Given the description of an element on the screen output the (x, y) to click on. 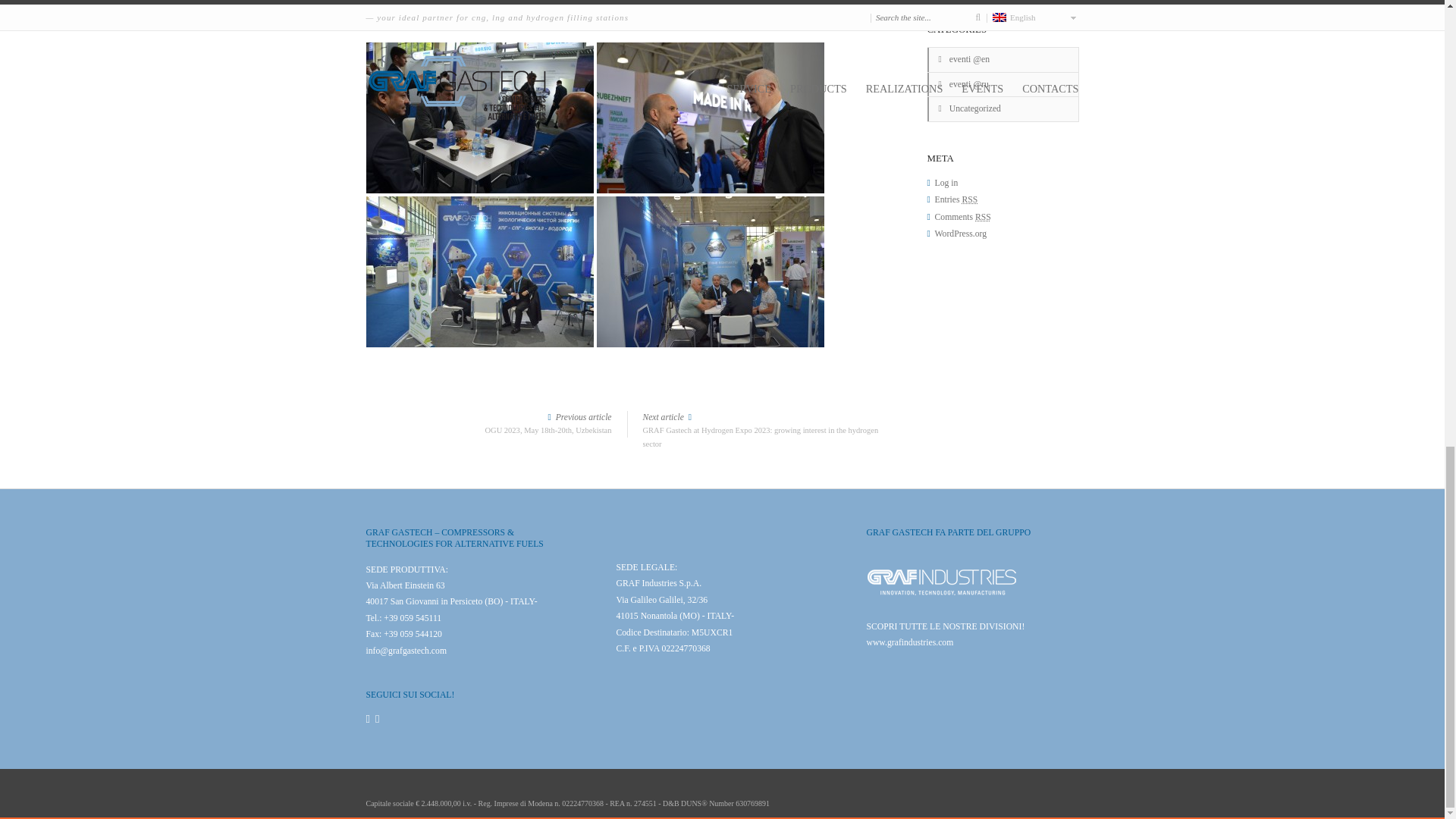
Really Simple Syndication (970, 199)
Privacy Policy (488, 422)
Really Simple Syndication (402, 786)
